Given the description of an element on the screen output the (x, y) to click on. 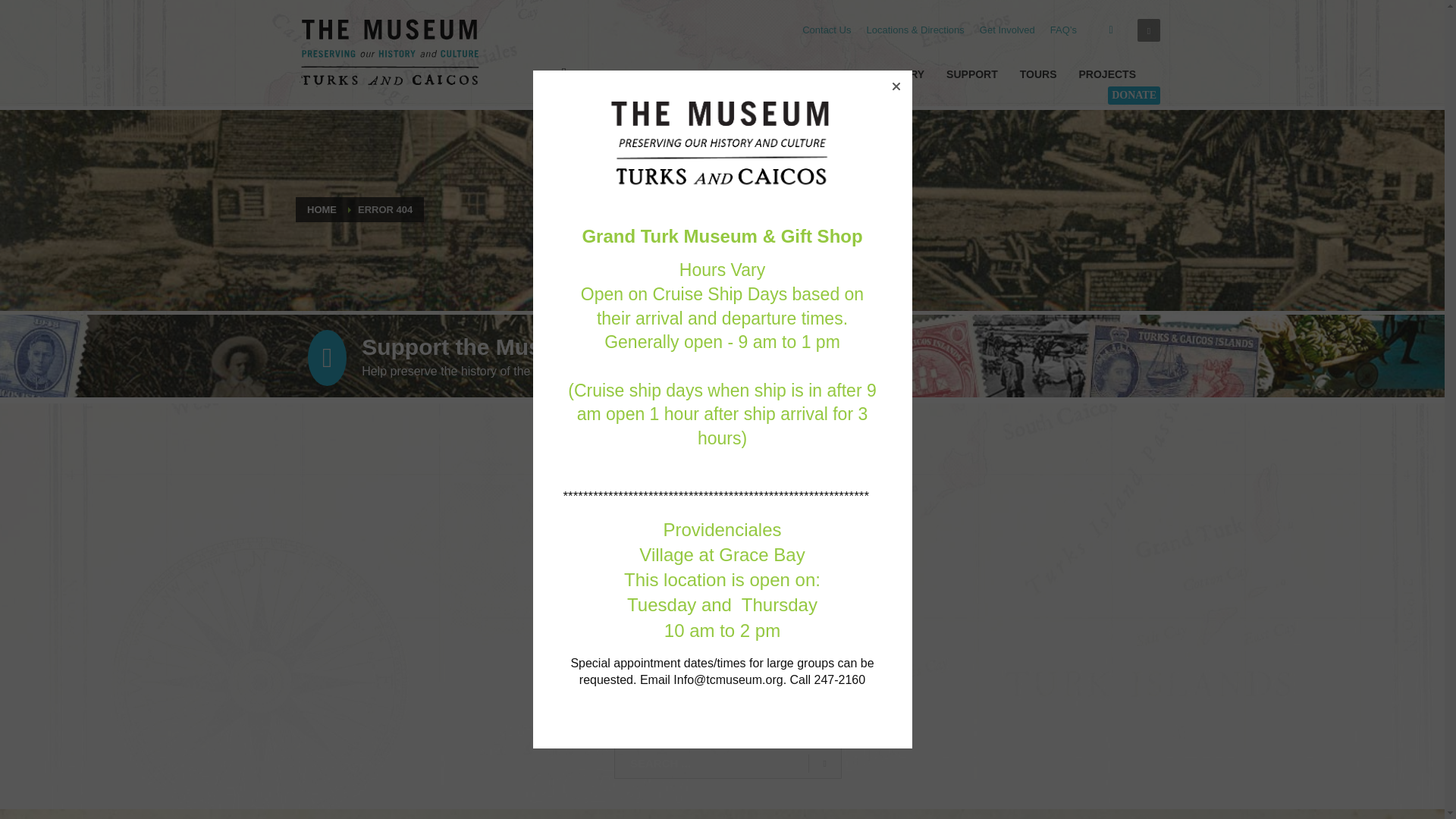
Facebook (1110, 29)
Contact Us (826, 29)
THE MUSEUM (623, 74)
HOME (564, 74)
COMMUNITY EVENTS (737, 74)
Get Involved (1007, 29)
